Given the description of an element on the screen output the (x, y) to click on. 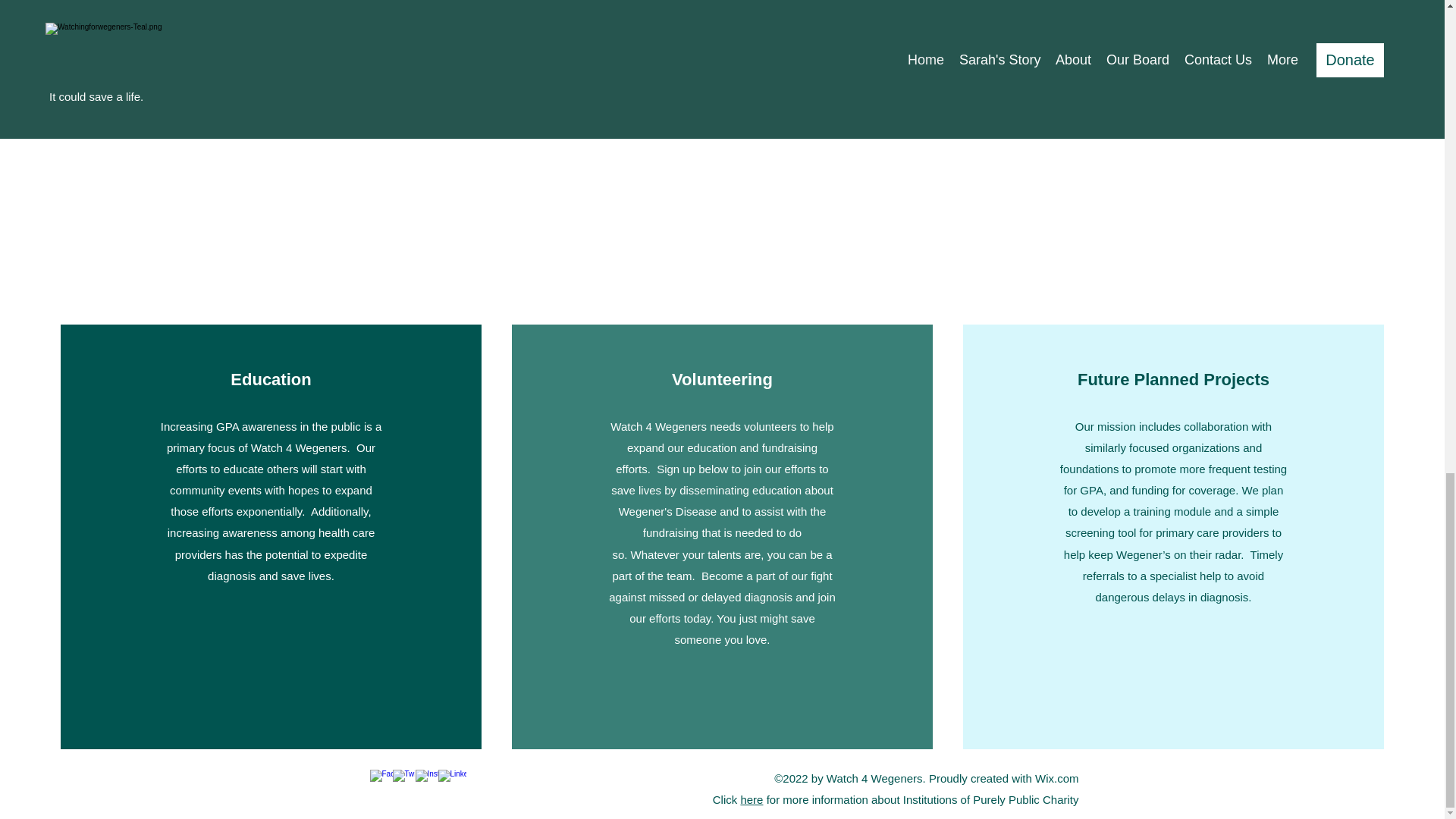
here (750, 799)
